Given the description of an element on the screen output the (x, y) to click on. 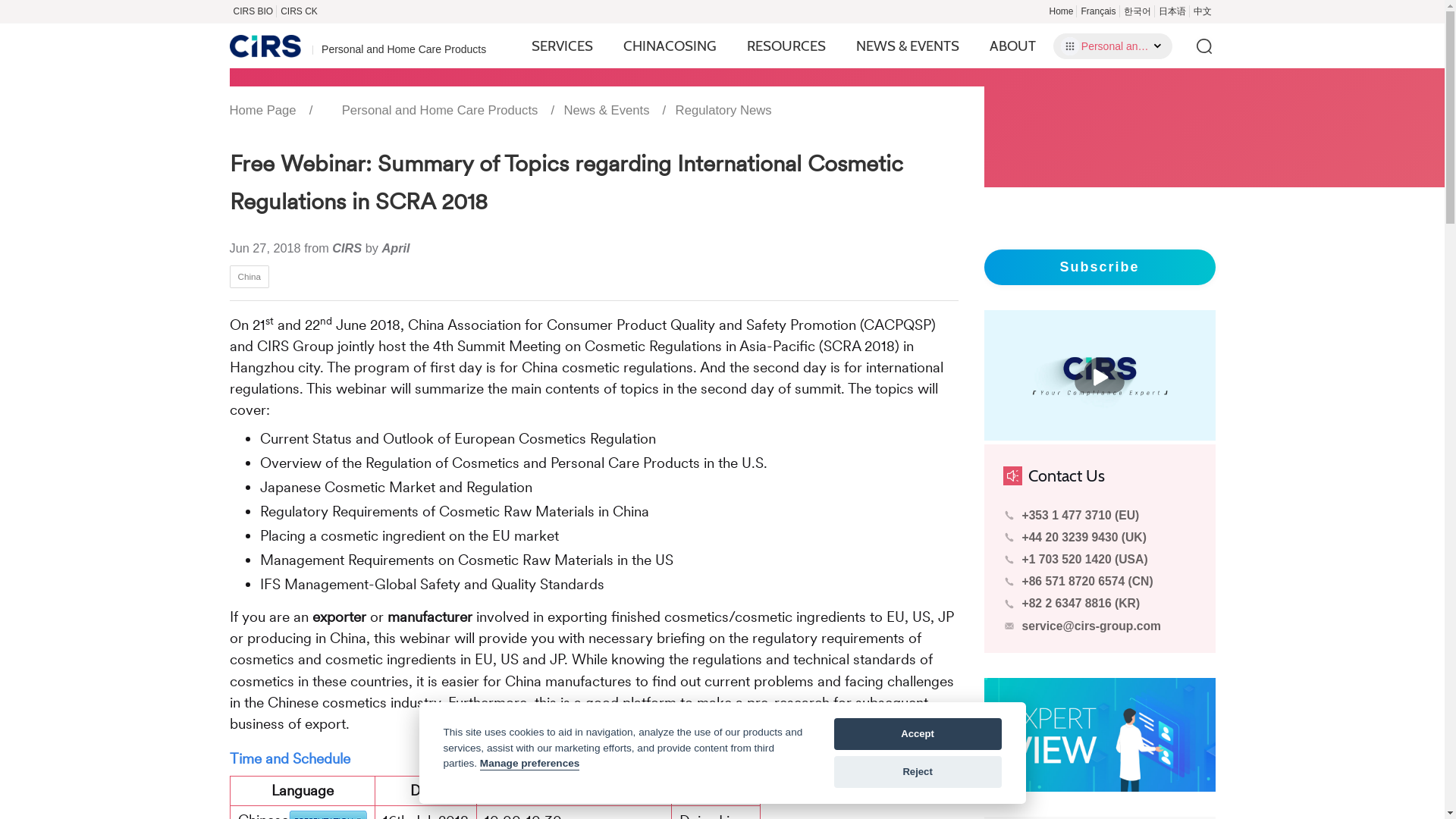
CIRS CK (298, 11)
RESOURCES (785, 45)
Home (1061, 11)
CIRS BIO (252, 11)
SERVICES (561, 45)
ABOUT (1012, 45)
CHINACOSING (669, 45)
